Given the description of an element on the screen output the (x, y) to click on. 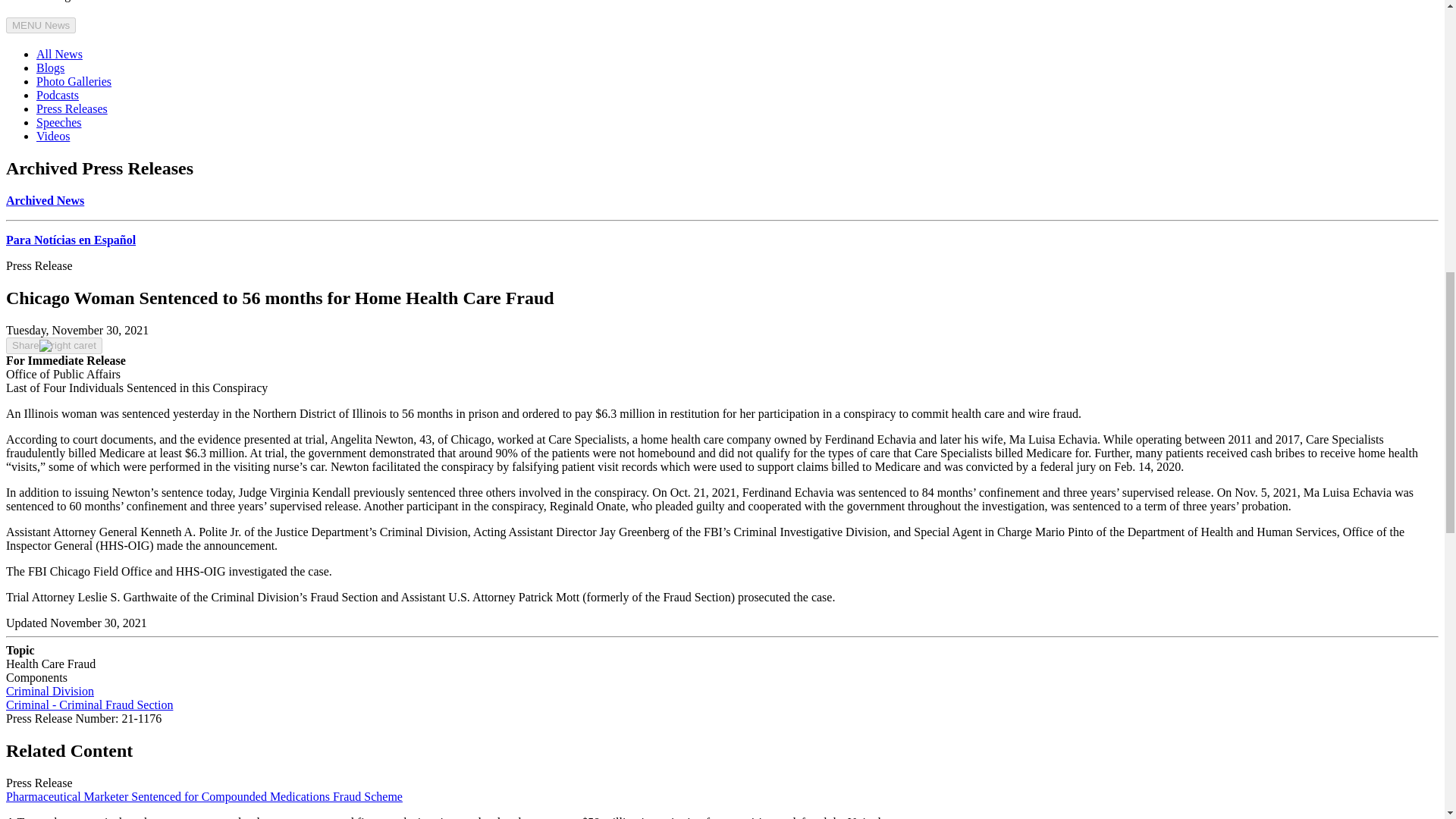
Press Releases (71, 108)
MENU News (40, 25)
Blogs (50, 67)
Photo Galleries (74, 81)
Podcasts (57, 94)
All News (59, 53)
